Given the description of an element on the screen output the (x, y) to click on. 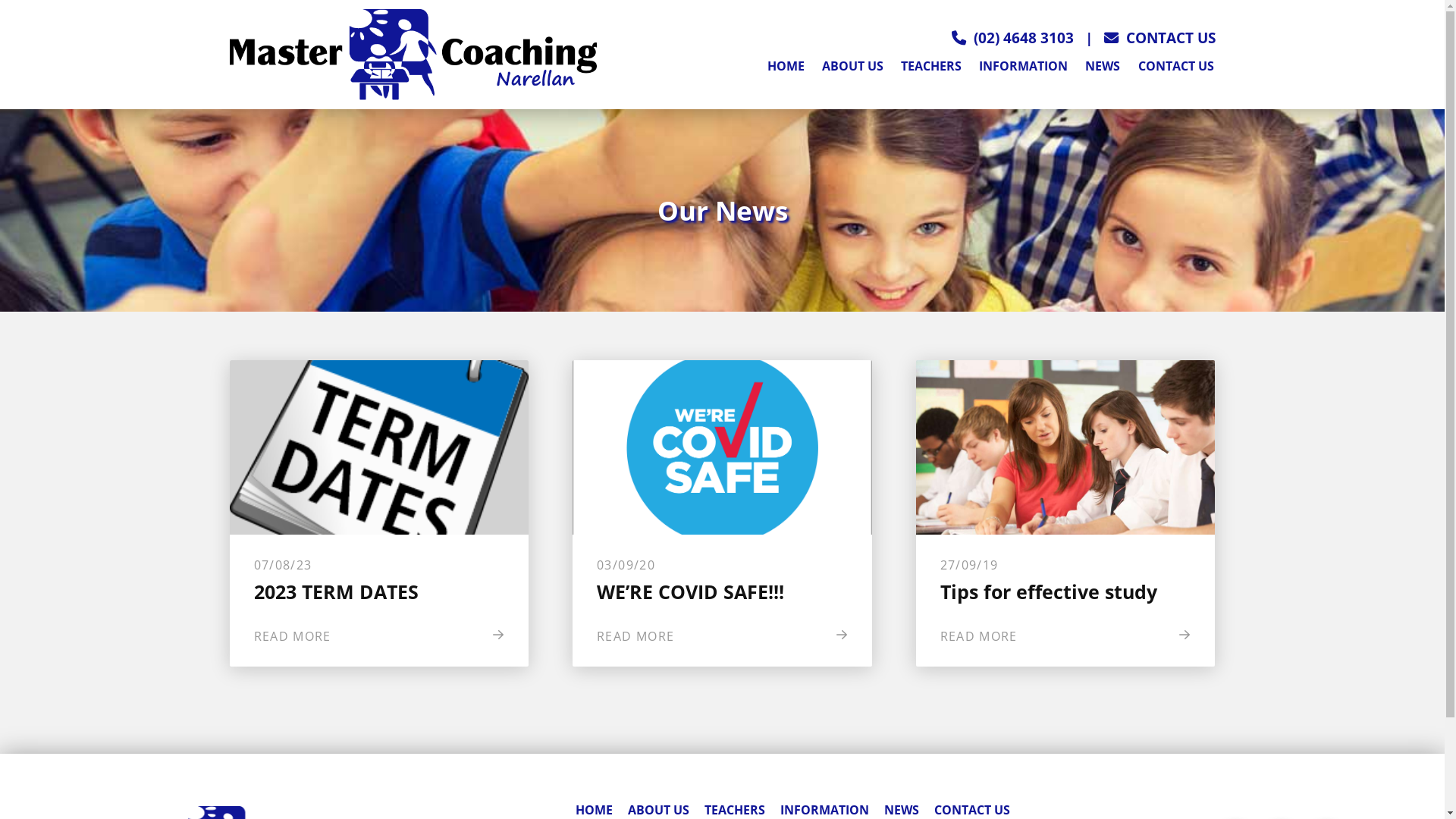
(02) 4648 3103 Element type: text (1023, 37)
INFORMATION Element type: text (1023, 68)
ABOUT US Element type: text (852, 68)
NEWS Element type: text (1102, 68)
27/09/19
Tips for effective study
READ MORE Element type: text (1065, 513)
  CONTACT US Element type: text (1159, 37)
TEACHERS Element type: text (931, 68)
HOME Element type: text (785, 68)
CONTACT US Element type: text (1174, 68)
07/08/23
2023 TERM DATES
READ MORE Element type: text (379, 513)
